Given the description of an element on the screen output the (x, y) to click on. 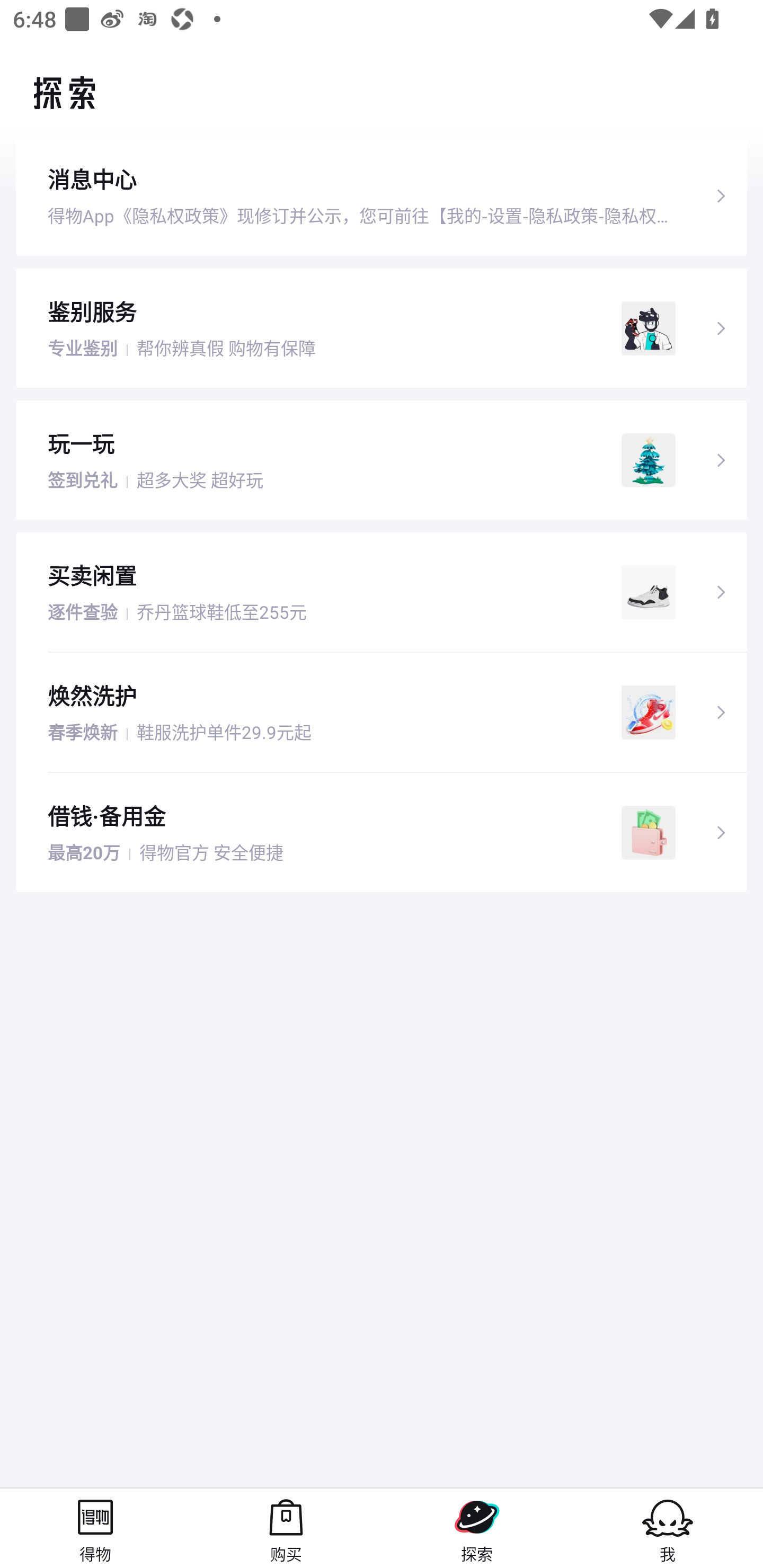
鉴别服务 专业鉴别 丨 帮你辨真假 购物有保障 (381, 327)
玩一玩 签到兑礼 丨 超多大奖 超好玩 (381, 459)
买卖闲置 逐件查验 丨 乔丹篮球鞋低至255元 (381, 592)
焕然洗护 春季焕新 丨 鞋服洗护单件29.9元起 (381, 711)
借钱·备用金 最高20万 丨 得物官方 安全便捷 (381, 832)
得物 (95, 1528)
购买 (285, 1528)
探索 (476, 1528)
我 (667, 1528)
